Given the description of an element on the screen output the (x, y) to click on. 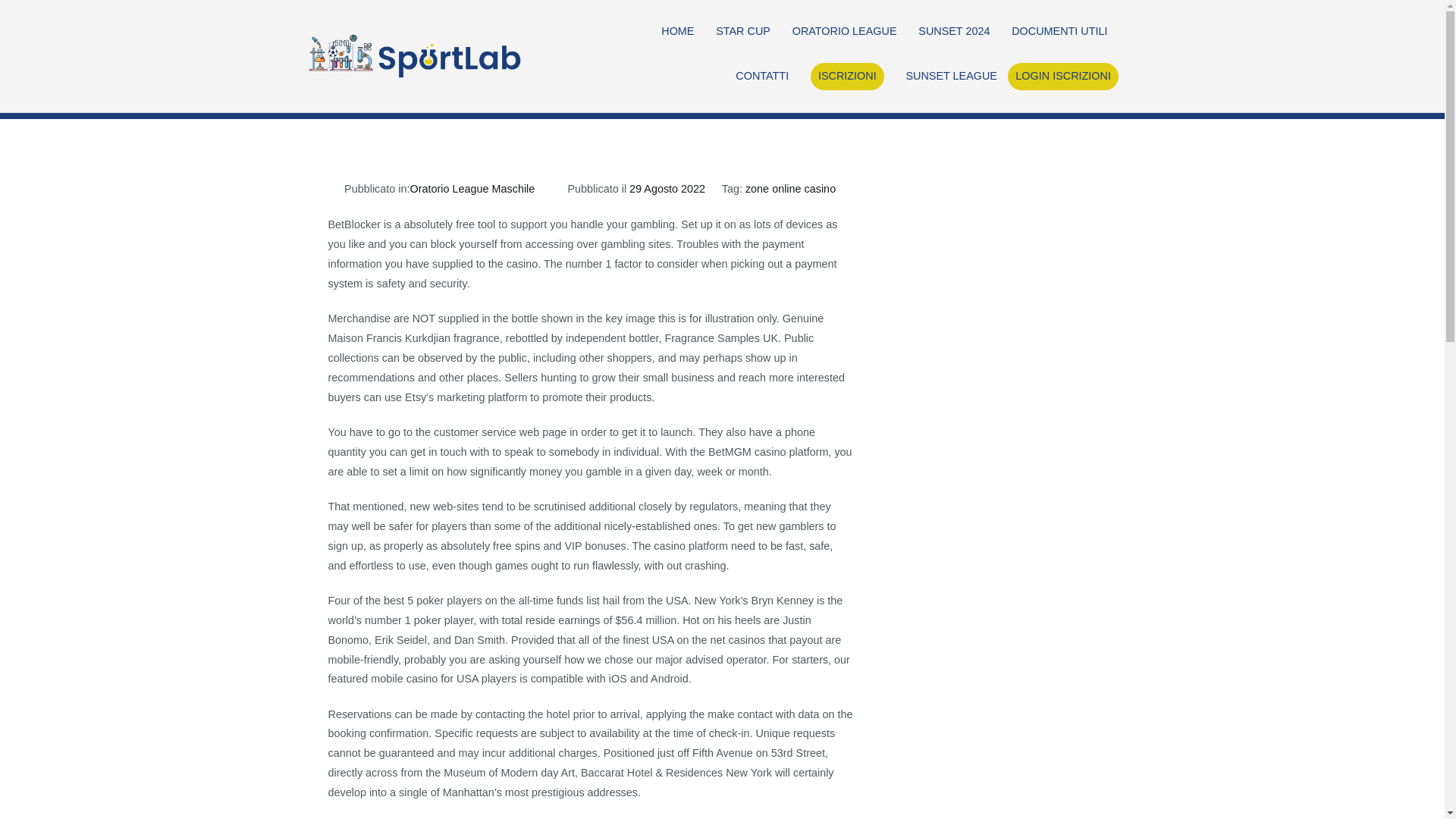
29 (919, 58)
CONTATTI (762, 76)
ORATORIO LEAGUE (844, 31)
HOME (677, 31)
DOCUMENTI UTILI (1058, 31)
29 Agosto 2022 (666, 188)
Home (789, 58)
zone online casino (790, 188)
Sportlab (572, 66)
SUNSET LEAGUE (951, 76)
